Given the description of an element on the screen output the (x, y) to click on. 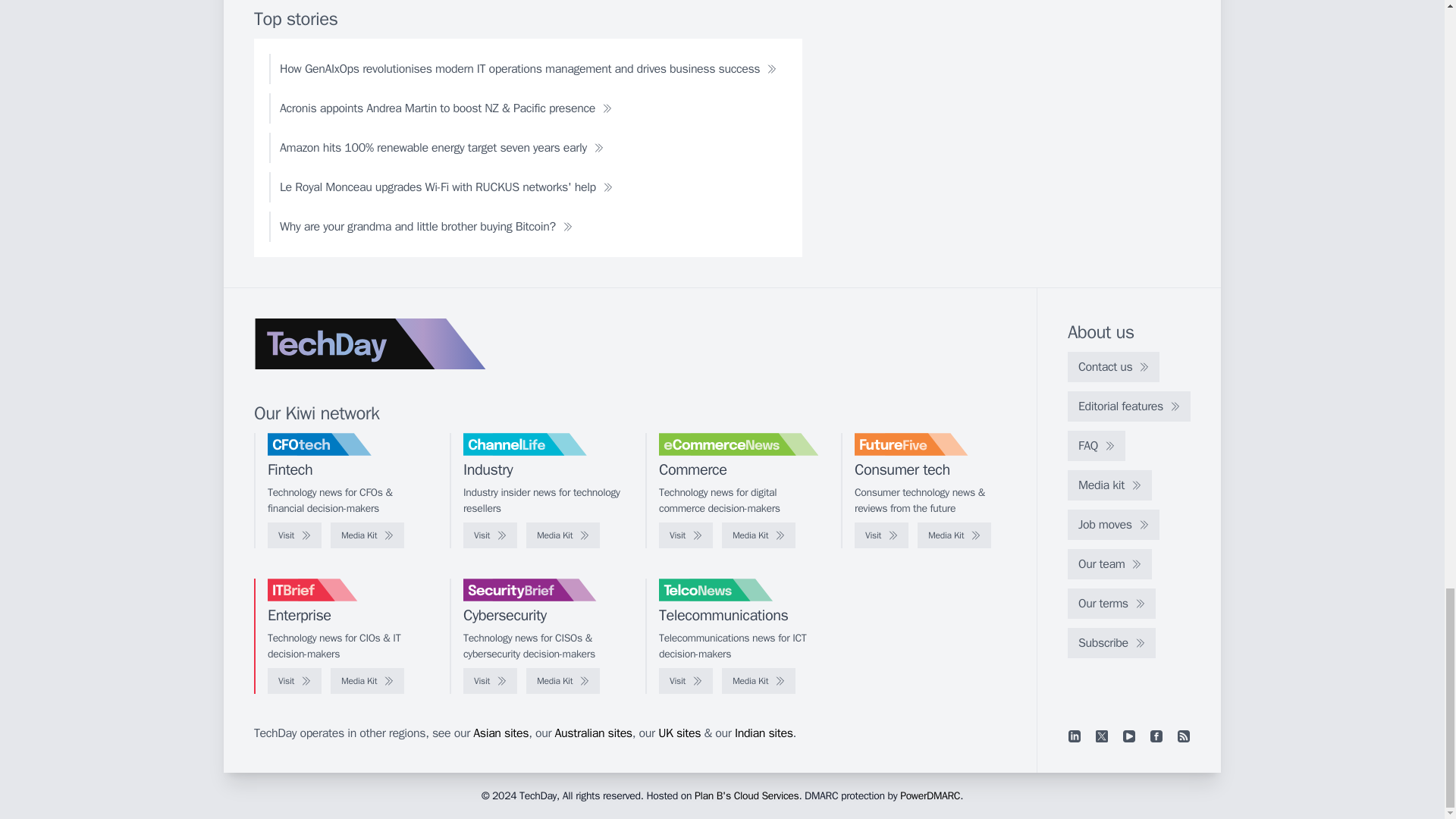
Why are your grandma and little brother buying Bitcoin? (426, 226)
Visit (294, 534)
Visit (489, 534)
Visit (881, 534)
Visit (686, 534)
Media Kit (562, 534)
Media Kit (367, 534)
Media Kit (758, 534)
Le Royal Monceau upgrades Wi-Fi with RUCKUS networks' help (446, 186)
